Given the description of an element on the screen output the (x, y) to click on. 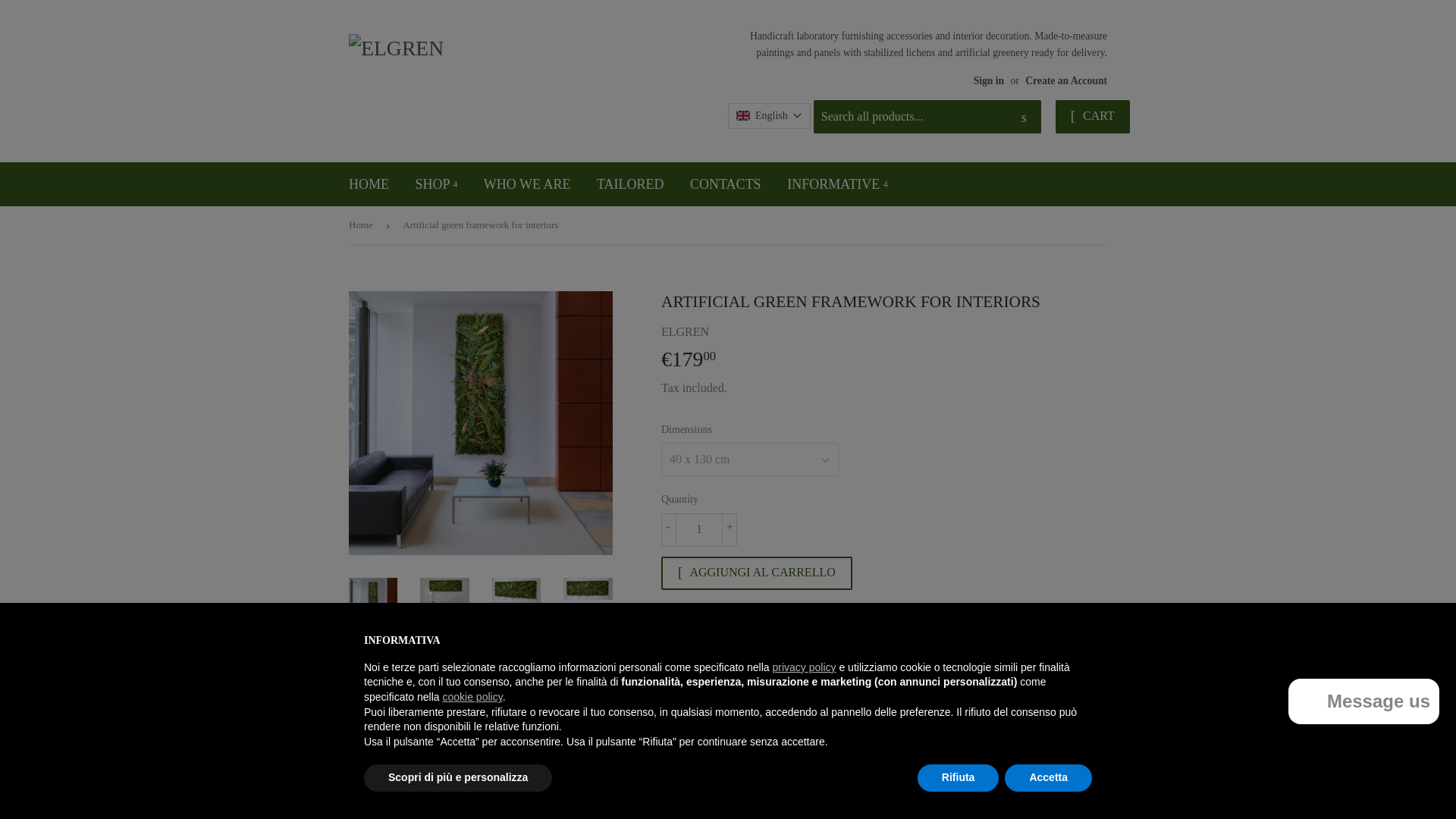
Shopify online store chat (1364, 703)
SHOP (435, 184)
CART (1092, 116)
CONTACTS (725, 184)
Search (1024, 117)
Create an Account (1065, 80)
WHO WE ARE (526, 184)
Sign in (989, 80)
TAILORED (630, 184)
1 (698, 530)
